Given the description of an element on the screen output the (x, y) to click on. 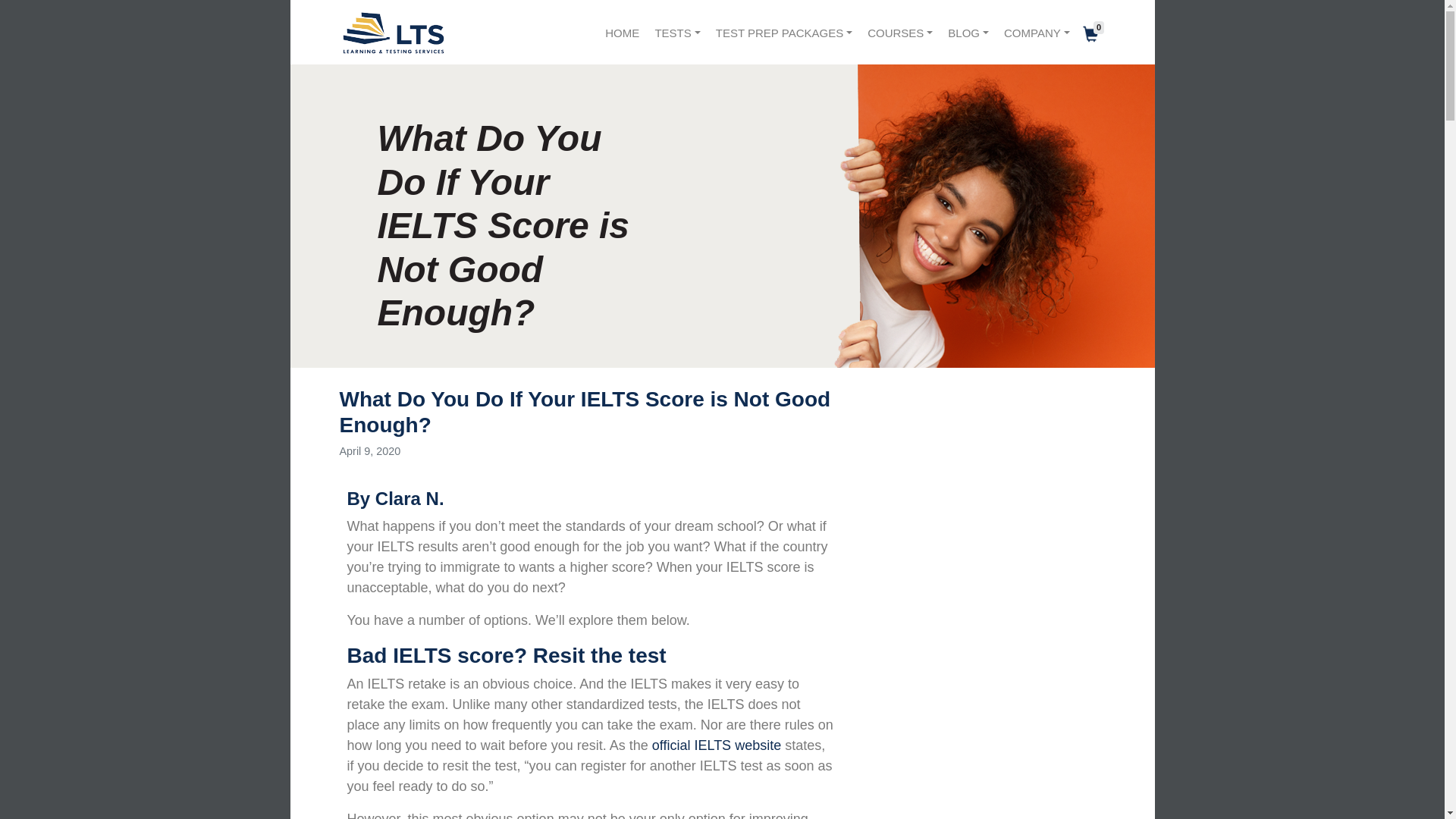
official IELTS website (716, 744)
0 (1099, 32)
HOME (621, 33)
COMPANY (1036, 33)
TEST PREP PACKAGES (784, 33)
April 9, 2020 (370, 451)
COURSES (900, 33)
What Do You Do If Your IELTS Score is Not Good Enough? (585, 411)
TESTS (676, 33)
BLOG (968, 33)
